Given the description of an element on the screen output the (x, y) to click on. 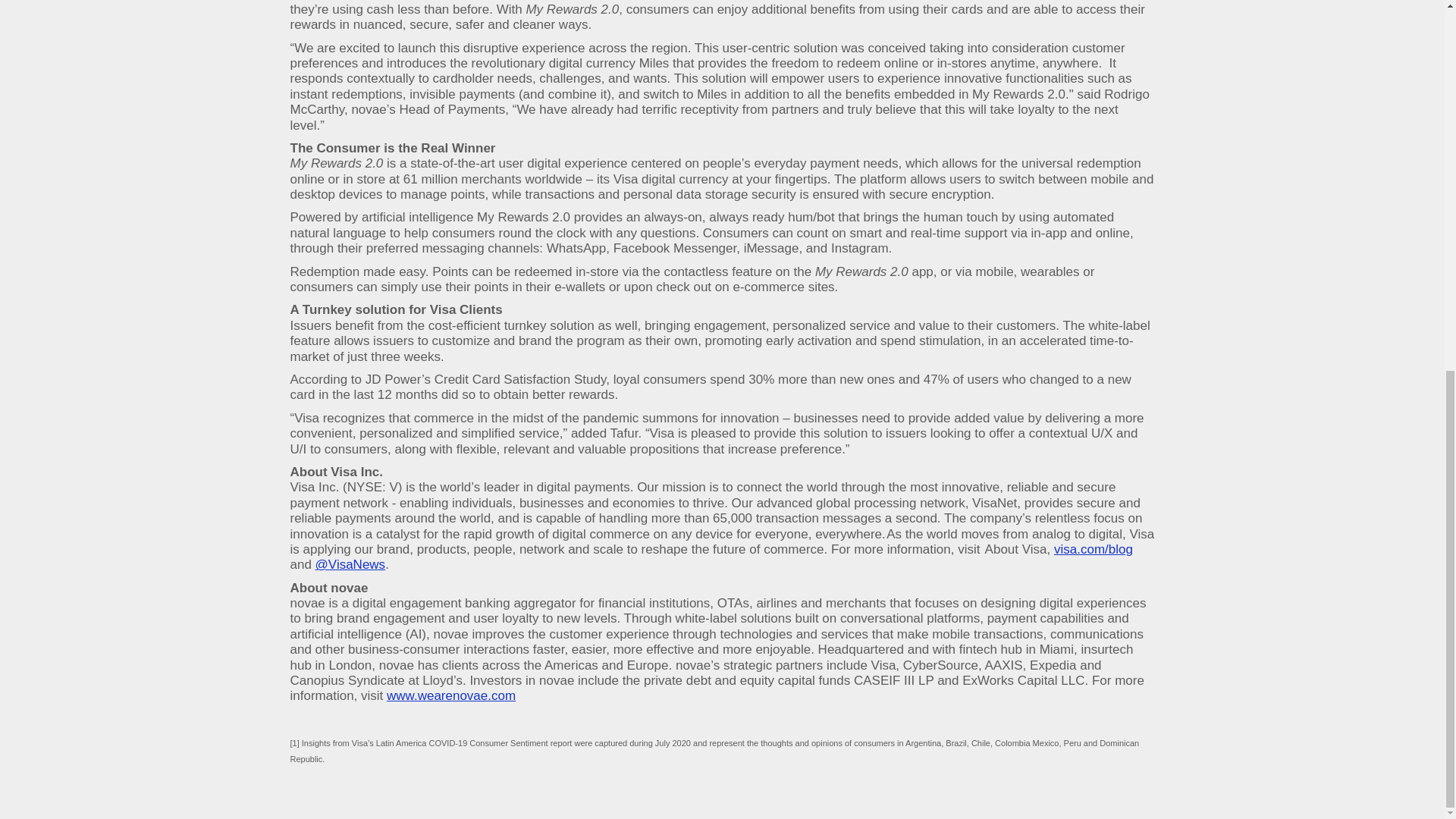
www.wearenovae.com (451, 695)
